Given the description of an element on the screen output the (x, y) to click on. 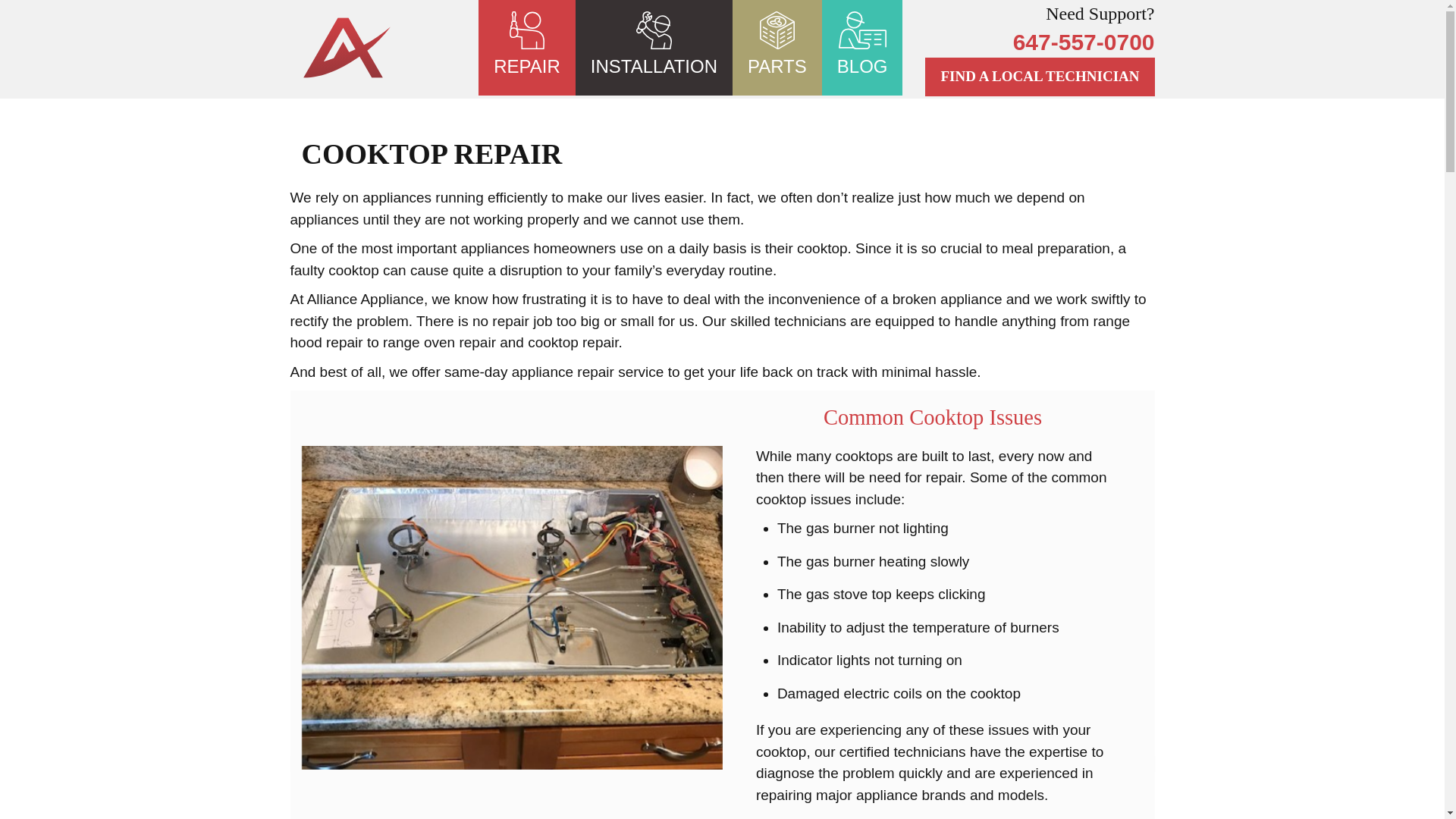
PARTS Element type: text (777, 47)
REPAIR Element type: text (526, 47)
INSTALLATION Element type: text (653, 47)
FIND A LOCAL TECHNICIAN Element type: text (1039, 76)
BLOG Element type: text (862, 47)
647-557-0700 Element type: text (1039, 42)
